Given the description of an element on the screen output the (x, y) to click on. 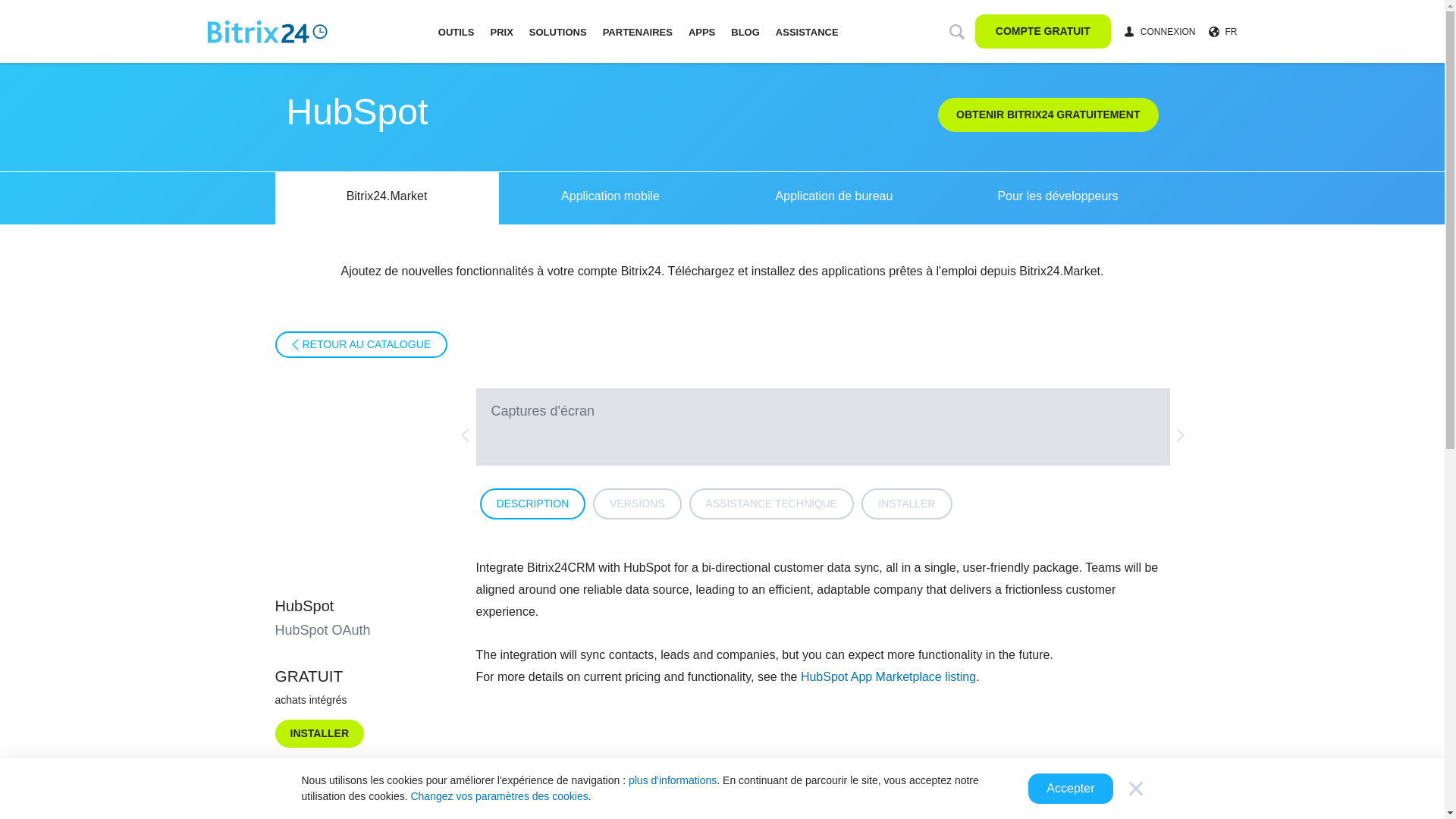
OBTENIR BITRIX24 GRATUITEMENT (1047, 114)
Application de bureau (833, 197)
OUTILS (456, 30)
ASSISTANCE (807, 30)
APPS (701, 30)
SOLUTIONS (558, 30)
COMPTE GRATUIT (1042, 31)
Bitrix24.Market (386, 197)
PARTENAIRES (637, 30)
BLOG (745, 30)
PRIX (501, 30)
Application mobile (610, 197)
